Given the description of an element on the screen output the (x, y) to click on. 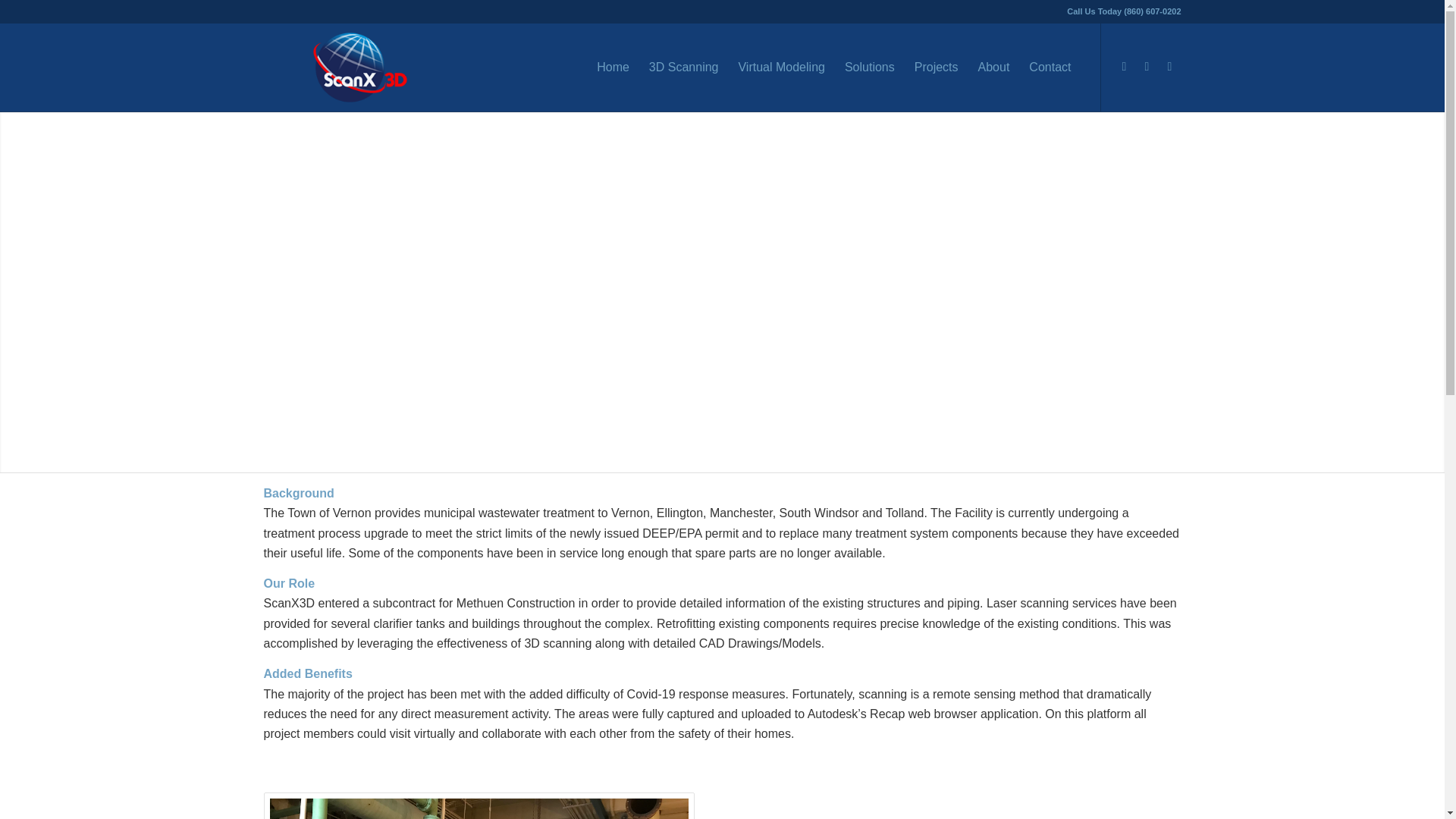
Youtube (1169, 66)
LinkedIn (1146, 66)
FB-True (479, 805)
Virtual Modeling (781, 67)
FB-True (478, 808)
3D Scanning (684, 67)
Facebook (1124, 66)
ScanX3D-logo-wh (360, 67)
